Given the description of an element on the screen output the (x, y) to click on. 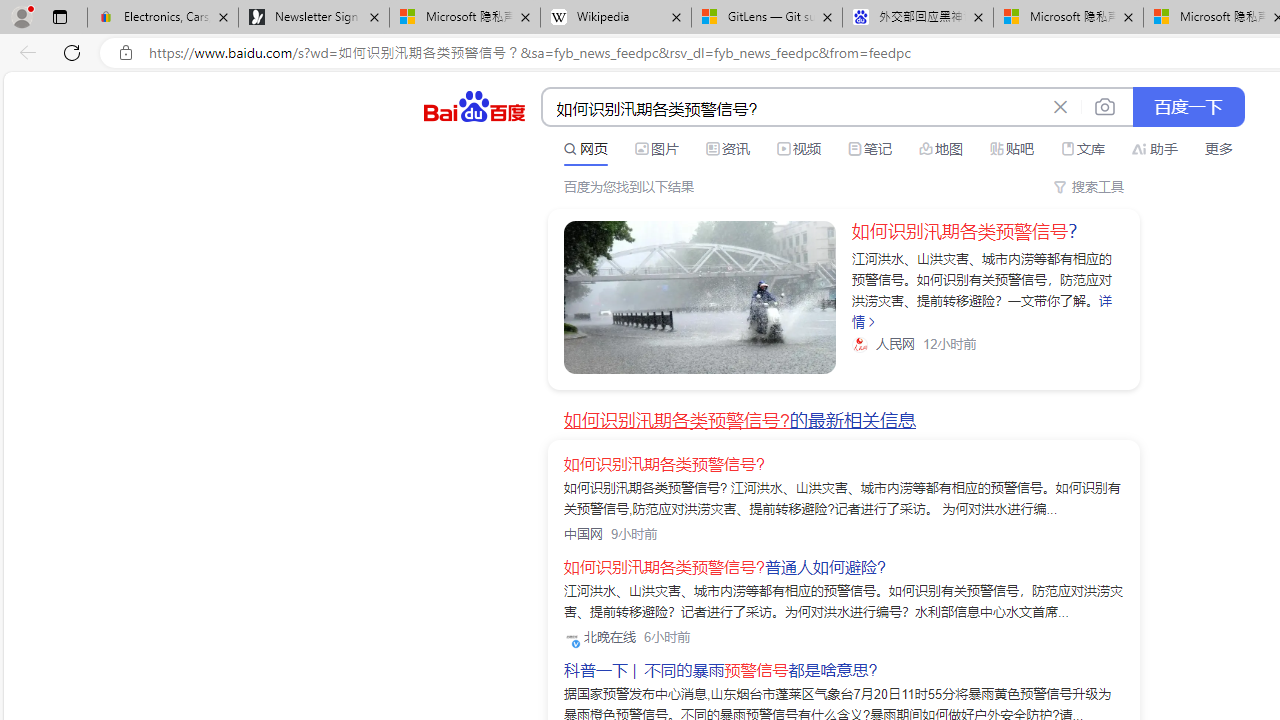
Newsletter Sign Up (314, 17)
